Given the description of an element on the screen output the (x, y) to click on. 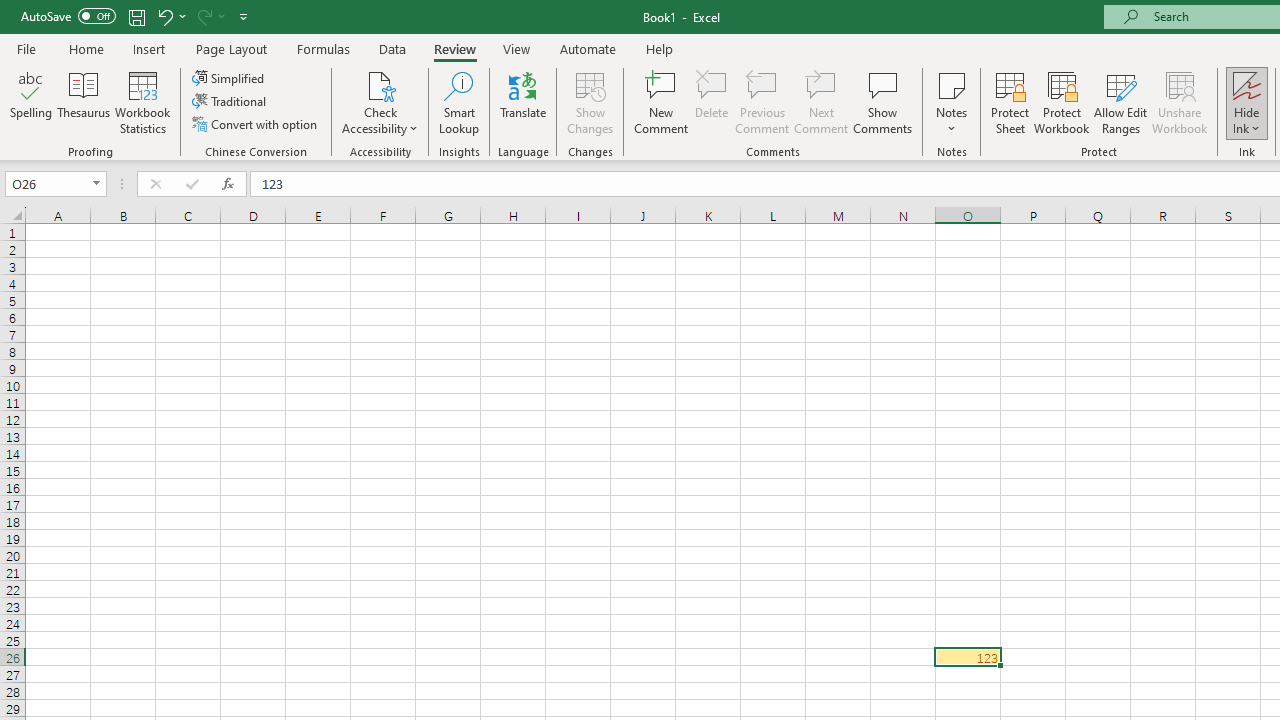
Previous Comment (762, 102)
Delete (712, 102)
Simplified (230, 78)
New Comment (661, 102)
Workbook Statistics (142, 102)
